Given the description of an element on the screen output the (x, y) to click on. 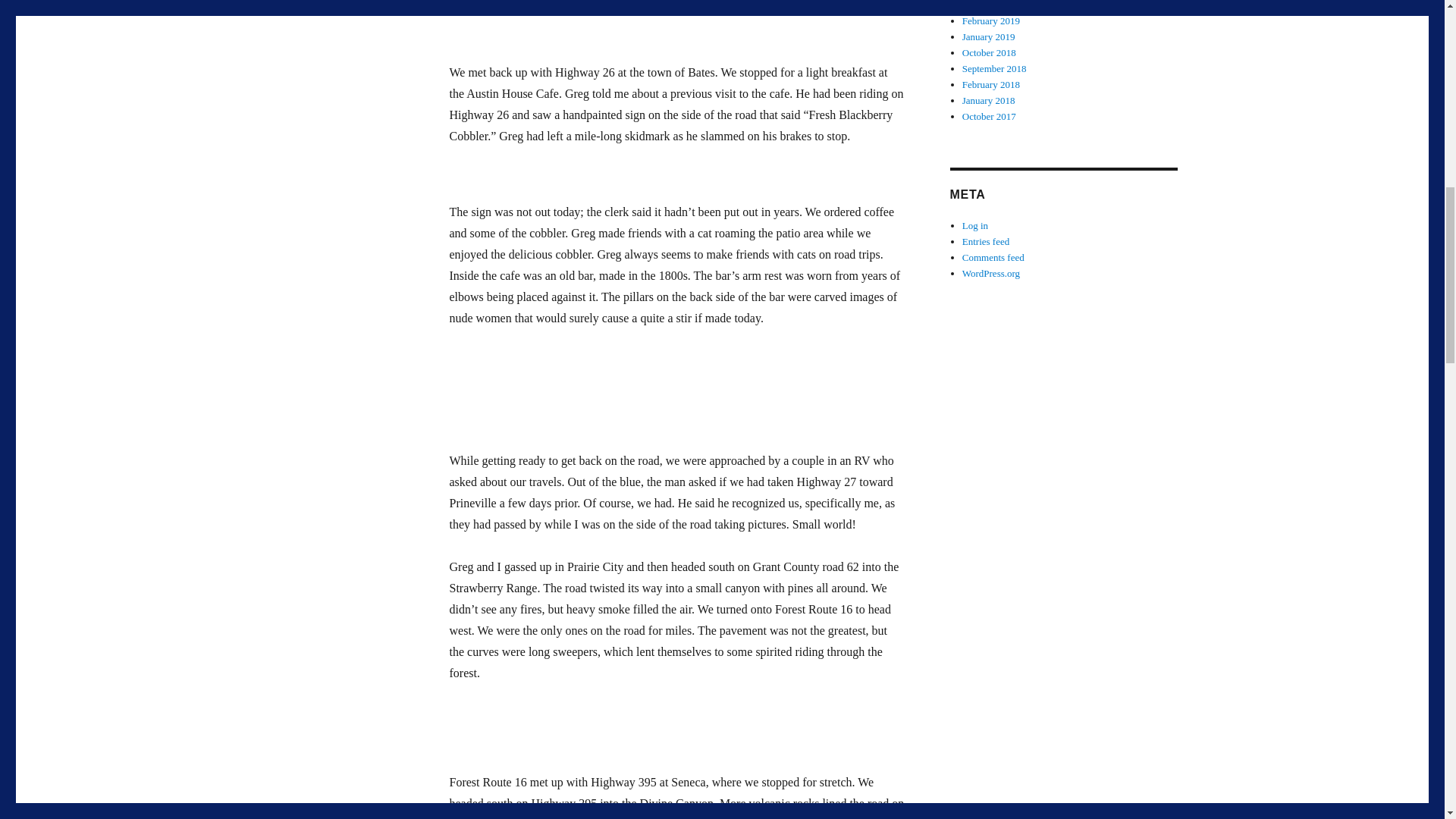
February 2018 (991, 84)
Entries feed (985, 241)
September 2018 (994, 68)
February 2019 (991, 20)
March 2019 (986, 5)
January 2019 (988, 36)
Log in (975, 225)
October 2017 (989, 116)
January 2018 (988, 100)
Comments feed (993, 256)
